Given the description of an element on the screen output the (x, y) to click on. 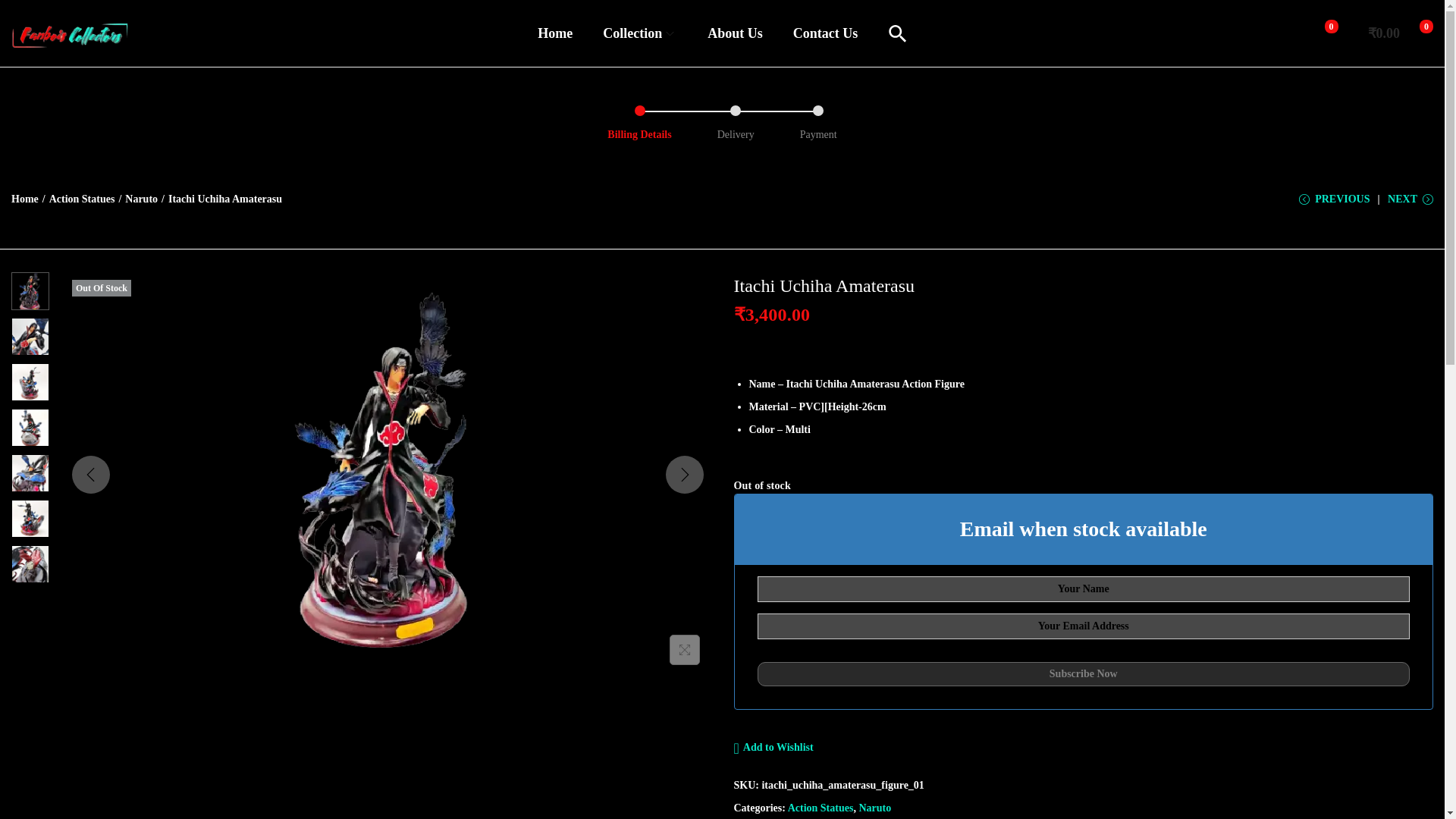
Collection (639, 33)
Subscribe Now (1083, 673)
